Given the description of an element on the screen output the (x, y) to click on. 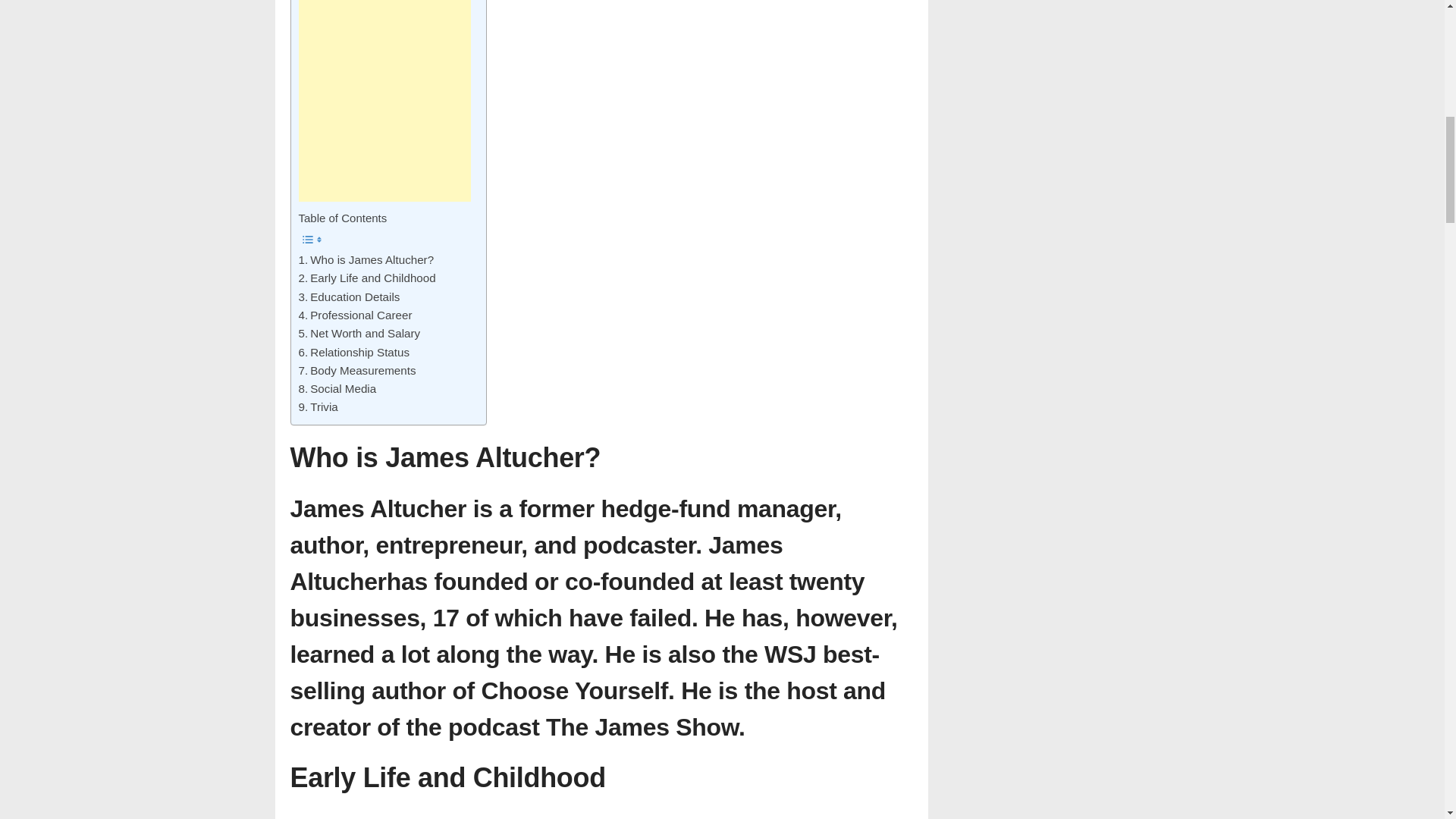
Who is James Altucher? (365, 259)
Relationship Status (354, 352)
Trivia (317, 407)
Net Worth and Salary (359, 333)
Trivia (317, 407)
Body Measurements (357, 370)
Who is James Altucher? (365, 259)
Early Life and Childhood (366, 278)
Social Media (337, 389)
Social Media (337, 389)
